Given the description of an element on the screen output the (x, y) to click on. 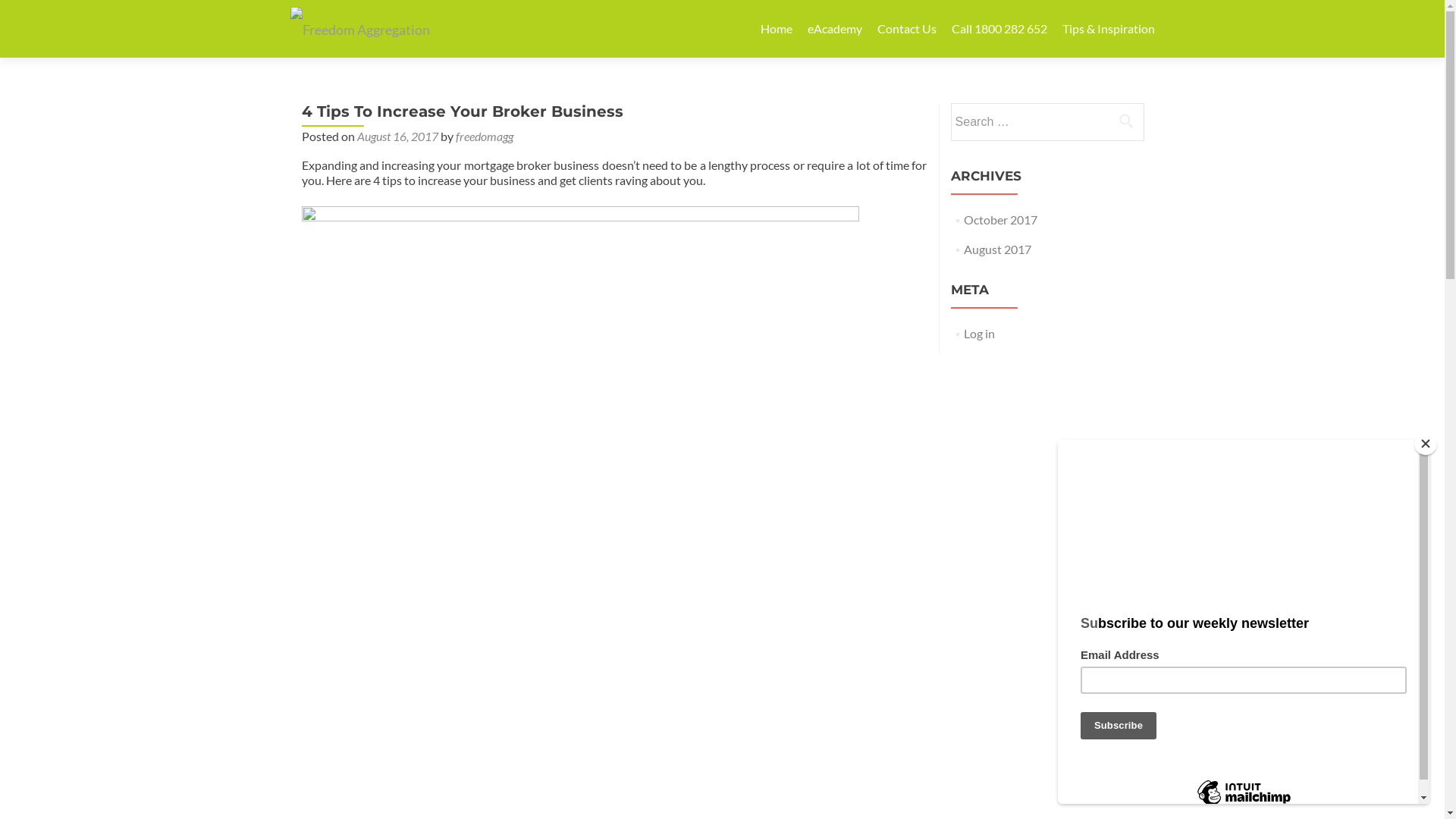
August 16, 2017 Element type: text (396, 135)
August 2017 Element type: text (997, 248)
eAcademy Element type: text (833, 28)
freedomagg Element type: text (483, 135)
Call 1800 282 652 Element type: text (998, 28)
Log in Element type: text (978, 333)
October 2017 Element type: text (1000, 219)
Contact Us Element type: text (905, 28)
Home Element type: text (775, 28)
Tips & Inspiration Element type: text (1107, 28)
Search Element type: text (1125, 120)
